Given the description of an element on the screen output the (x, y) to click on. 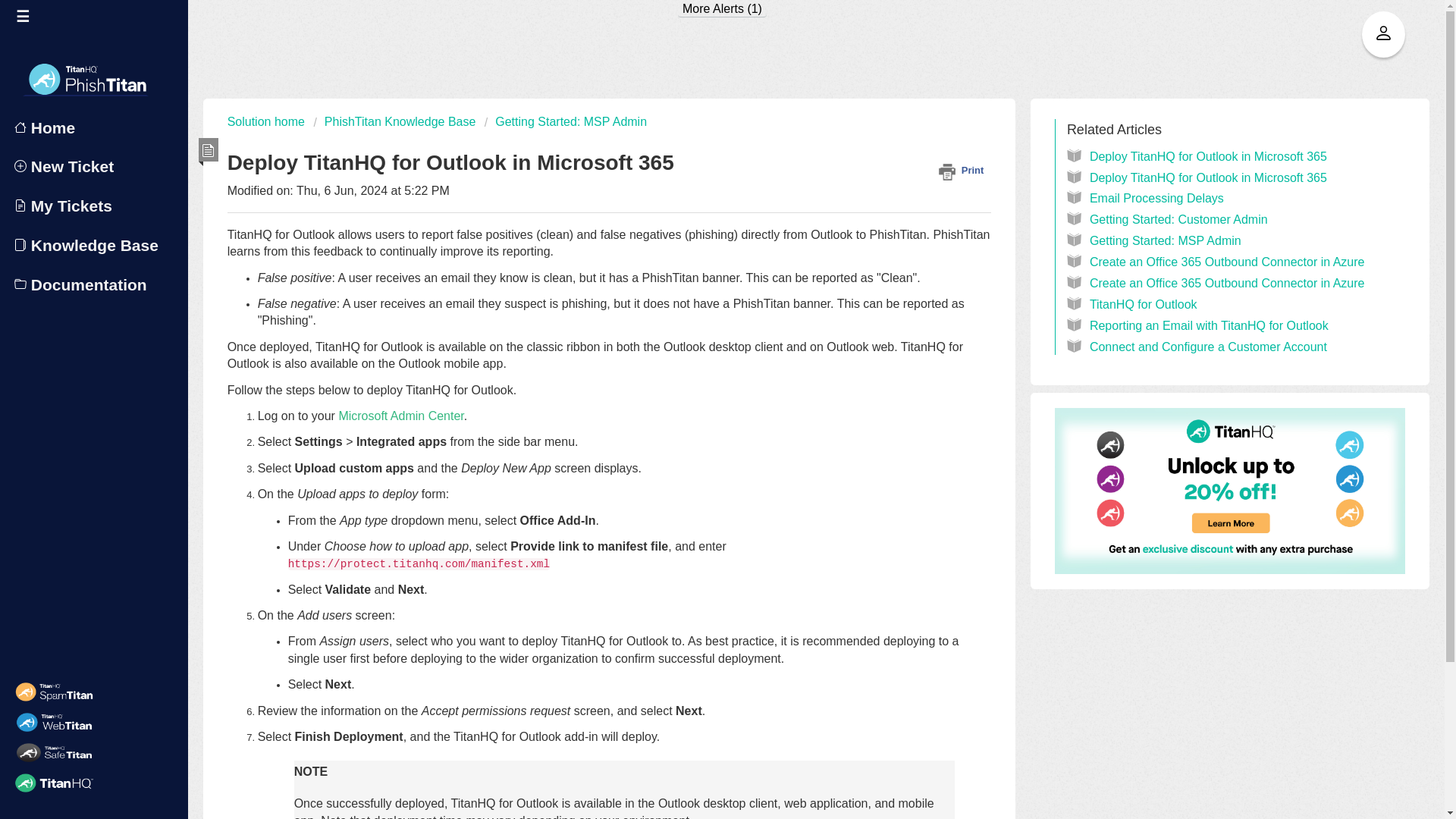
Email Processing Delays (1156, 197)
TitanHQ for Outlook (1142, 304)
Create an Office 365 Outbound Connector in Azure (1227, 261)
Reporting an Email with TitanHQ for Outlook (1208, 325)
Deploy TitanHQ for Outlook in Microsoft 365 (1207, 177)
Deploy TitanHQ for Outlook in Microsoft 365 (1207, 155)
My Tickets (96, 206)
Print (965, 170)
Documentation (96, 284)
Home (96, 127)
